Given the description of an element on the screen output the (x, y) to click on. 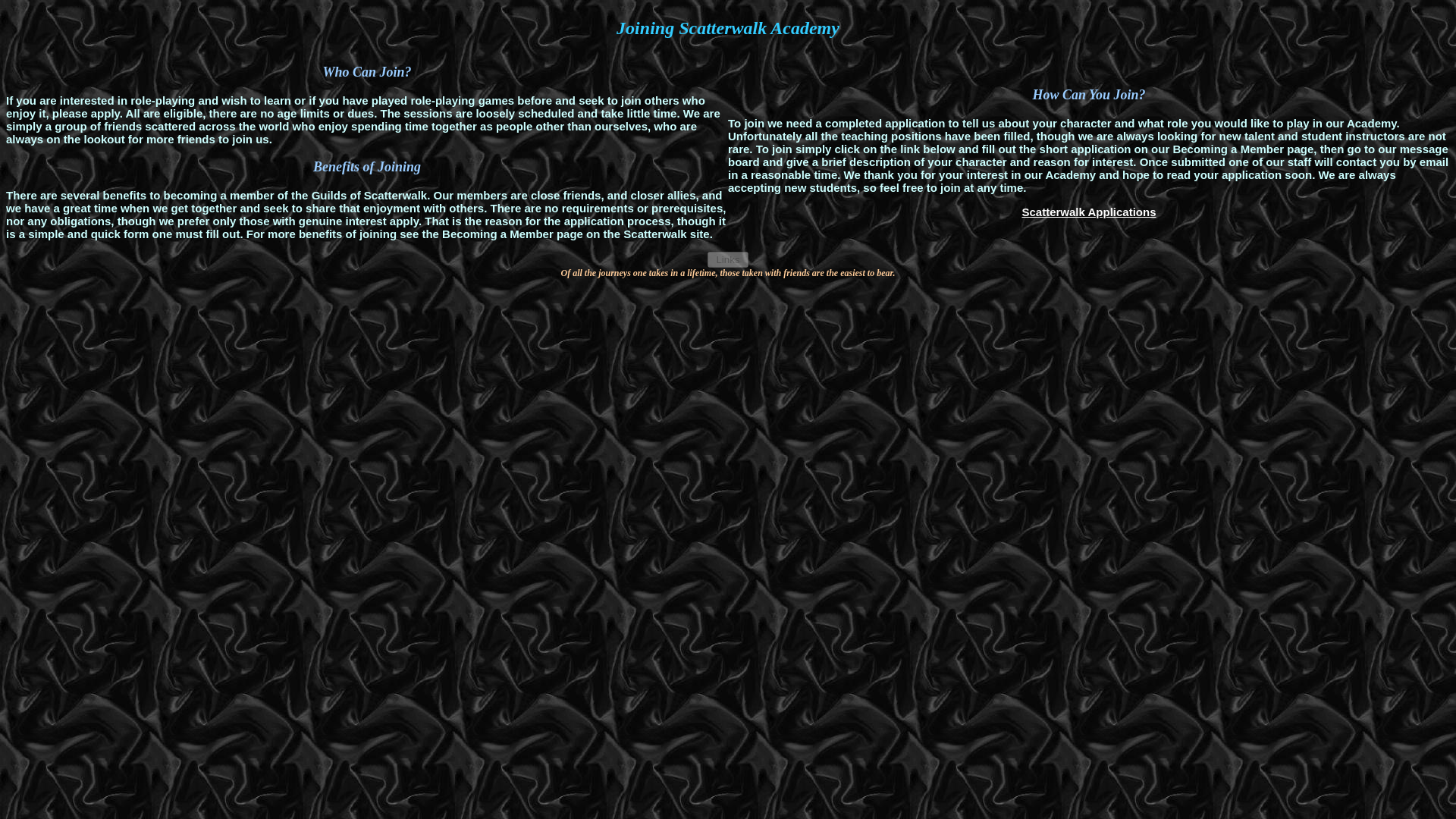
 Links  (728, 259)
 Links  (728, 259)
Scatterwalk Applications (1089, 211)
